Given the description of an element on the screen output the (x, y) to click on. 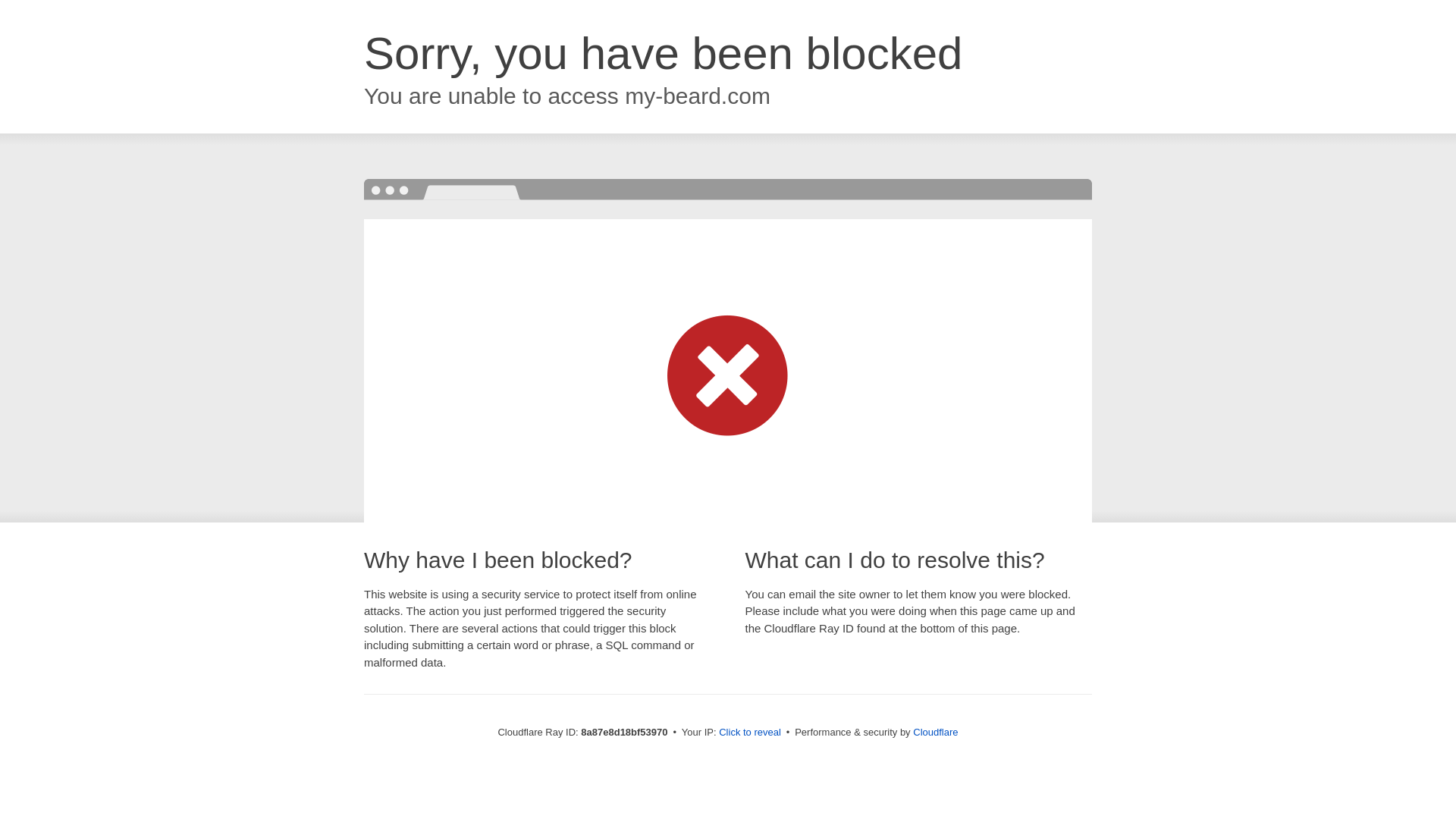
Click to reveal (749, 732)
Cloudflare (935, 731)
